Given the description of an element on the screen output the (x, y) to click on. 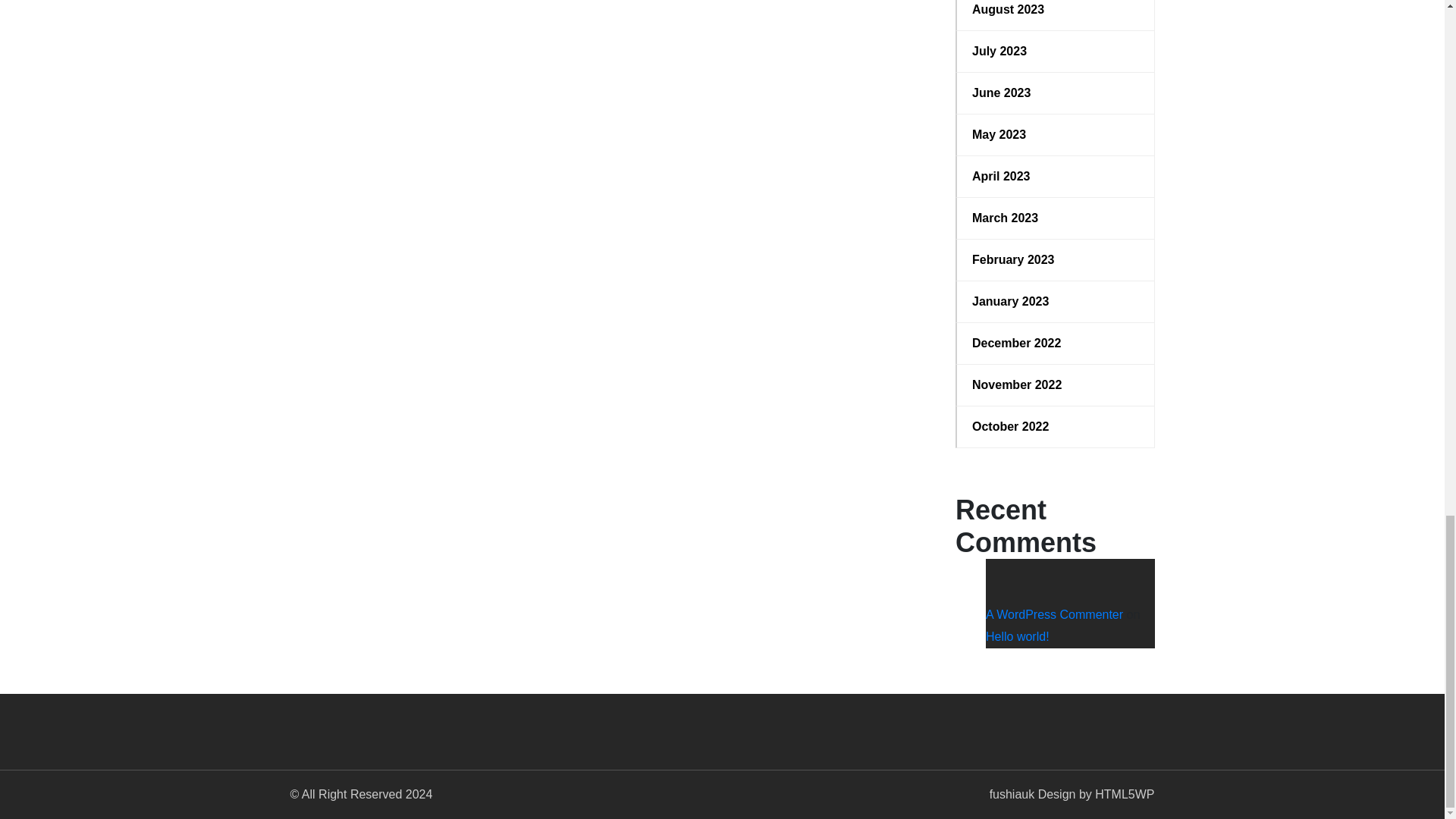
August 2023 (1055, 9)
December 2022 (1055, 343)
November 2022 (1055, 384)
June 2023 (1055, 93)
January 2023 (1055, 301)
April 2023 (1055, 176)
March 2023 (1055, 218)
July 2023 (1055, 51)
February 2023 (1055, 259)
May 2023 (1055, 135)
